Given the description of an element on the screen output the (x, y) to click on. 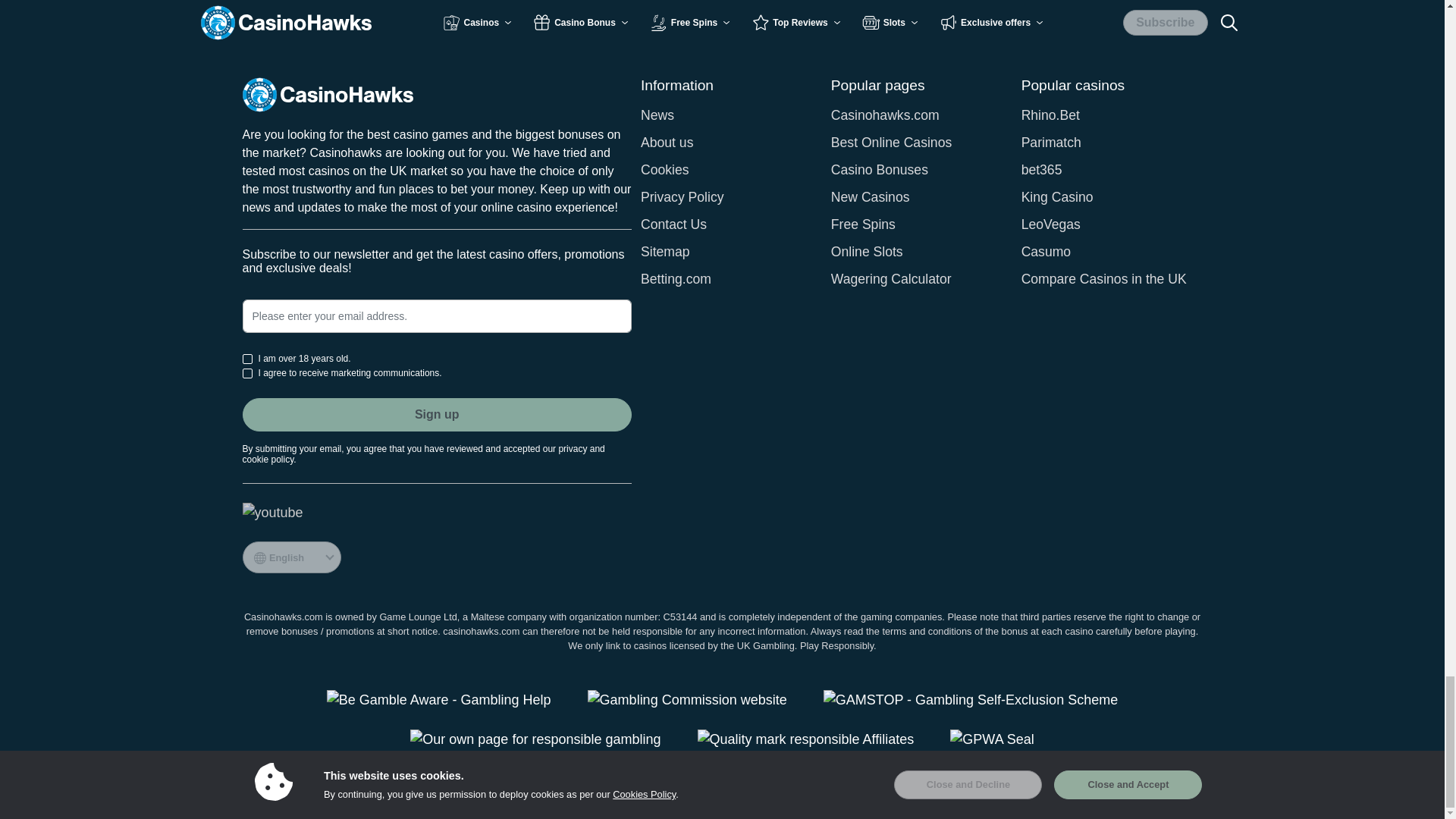
on (247, 373)
on (247, 358)
